Given the description of an element on the screen output the (x, y) to click on. 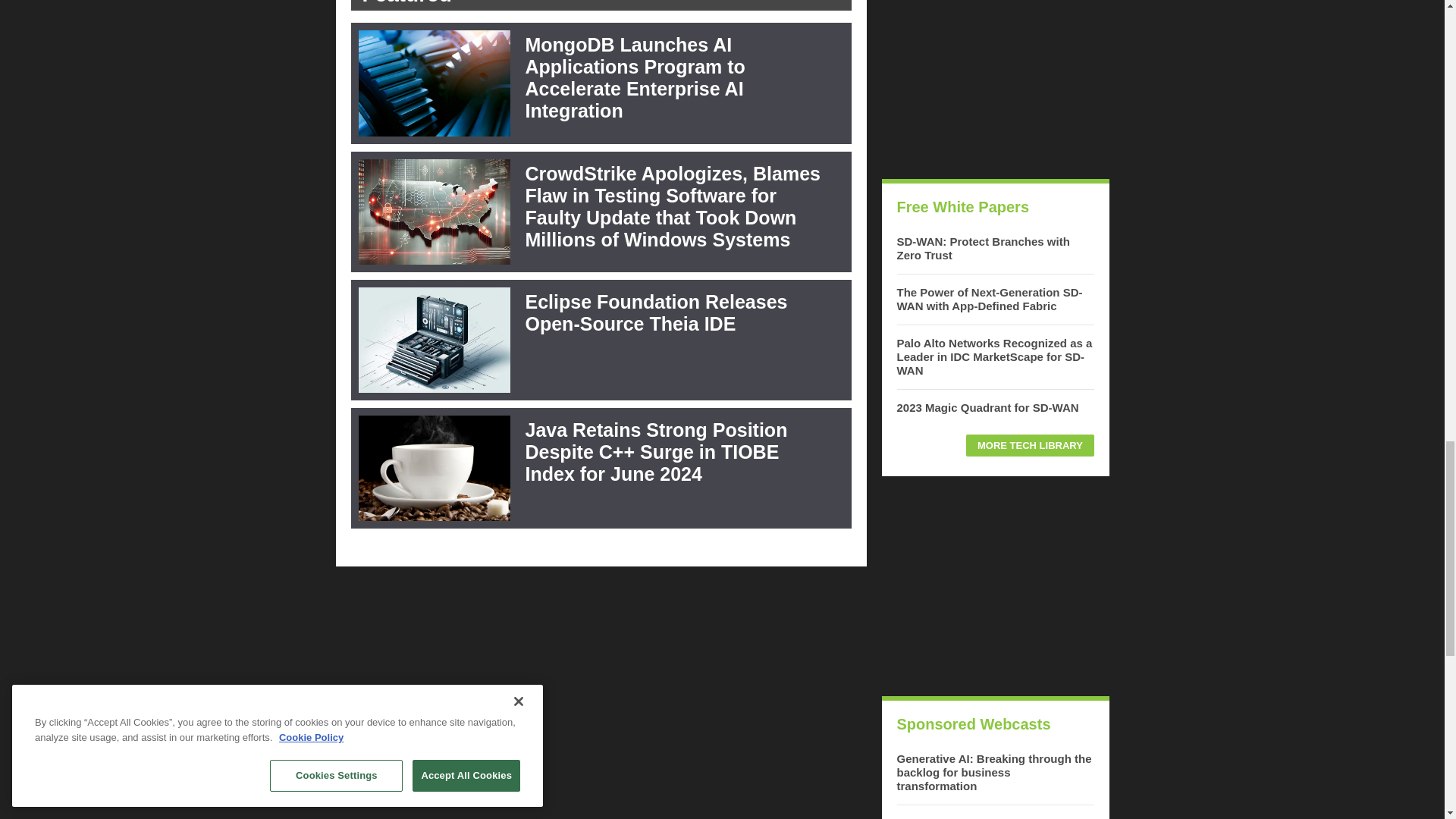
3rd party ad content (994, 81)
3rd party ad content (994, 585)
